Given the description of an element on the screen output the (x, y) to click on. 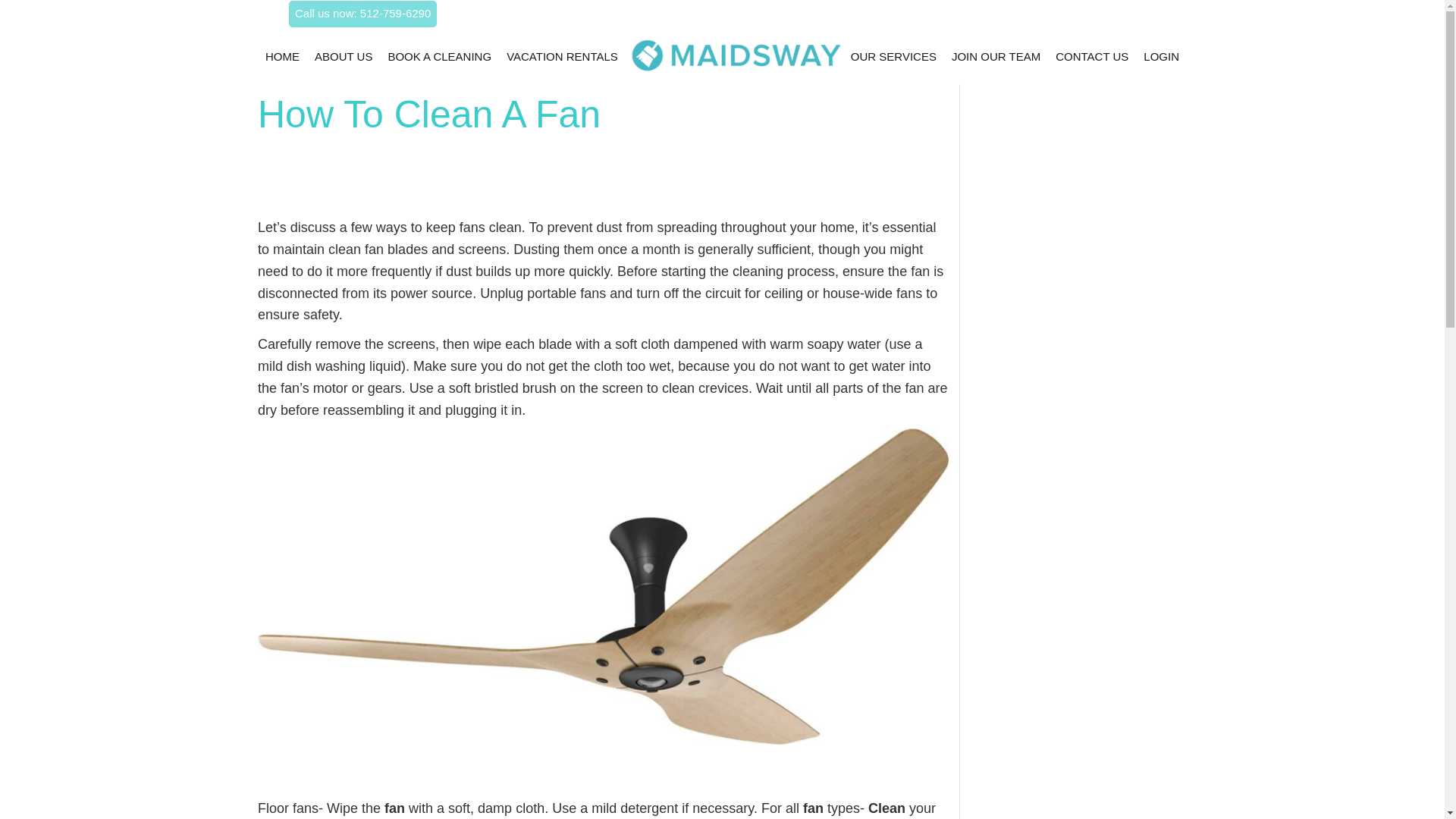
HOME (282, 55)
ABOUT US (343, 55)
VACATION RENTALS (561, 55)
Clean your fan (596, 809)
wipe each blade (522, 344)
BOOK A CLEANING (439, 55)
CONTACT US (1091, 55)
JOIN OUR TEAM (995, 55)
LOGIN (1161, 55)
OUR SERVICES (893, 55)
Call us now: 512-759-6290 (362, 12)
Call us now: 512-759-6290 (362, 13)
